Given the description of an element on the screen output the (x, y) to click on. 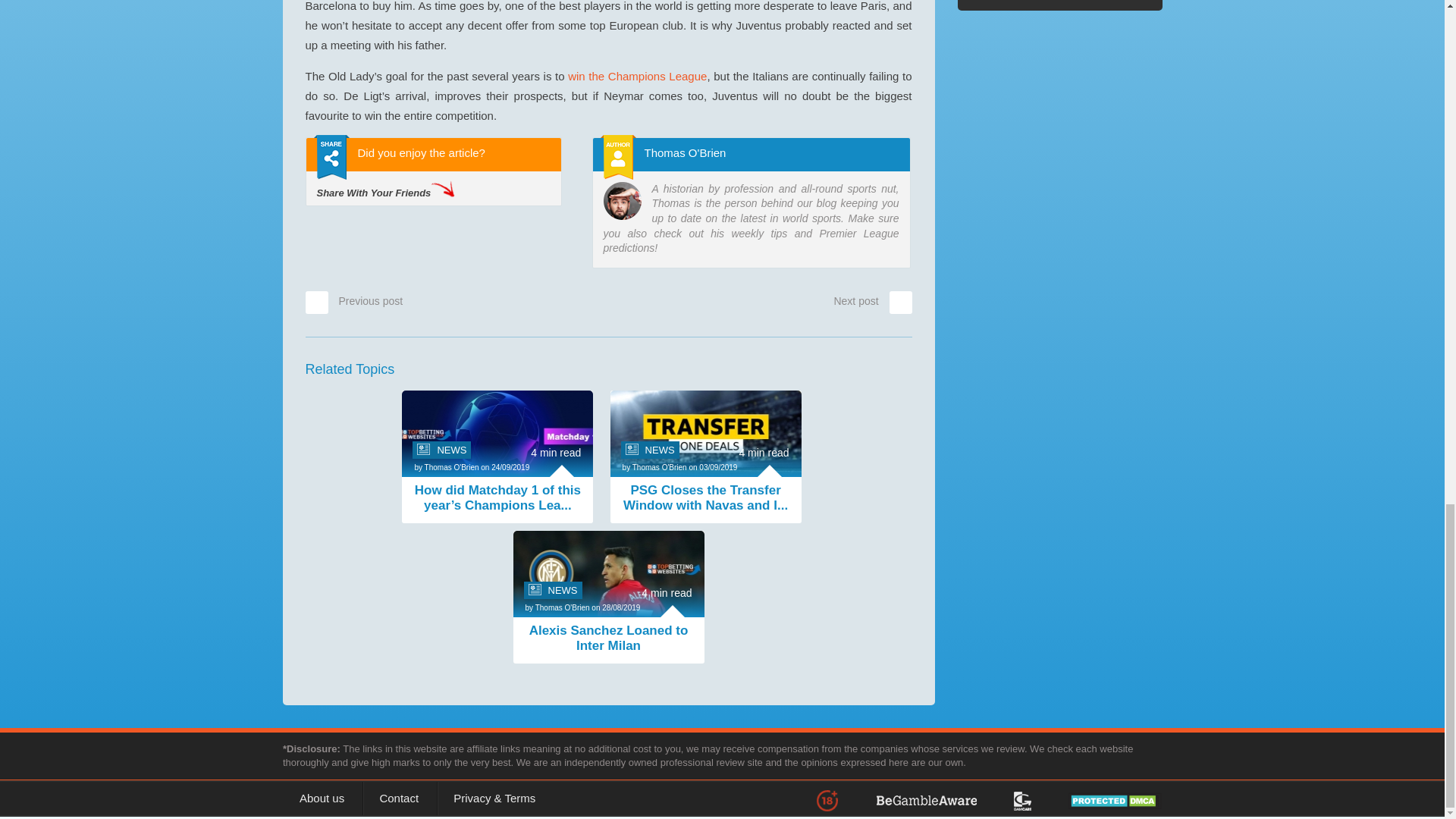
Alexis Sanchez Loaned to Inter Milan (607, 638)
Next post (871, 300)
win the Champions League (636, 75)
PSG Closes the Transfer Window with Navas and I... (704, 498)
DMCA.com Protection Status (1097, 799)
Previous post (353, 300)
Contact (398, 798)
Gambleaware (943, 799)
About us (321, 798)
